Given the description of an element on the screen output the (x, y) to click on. 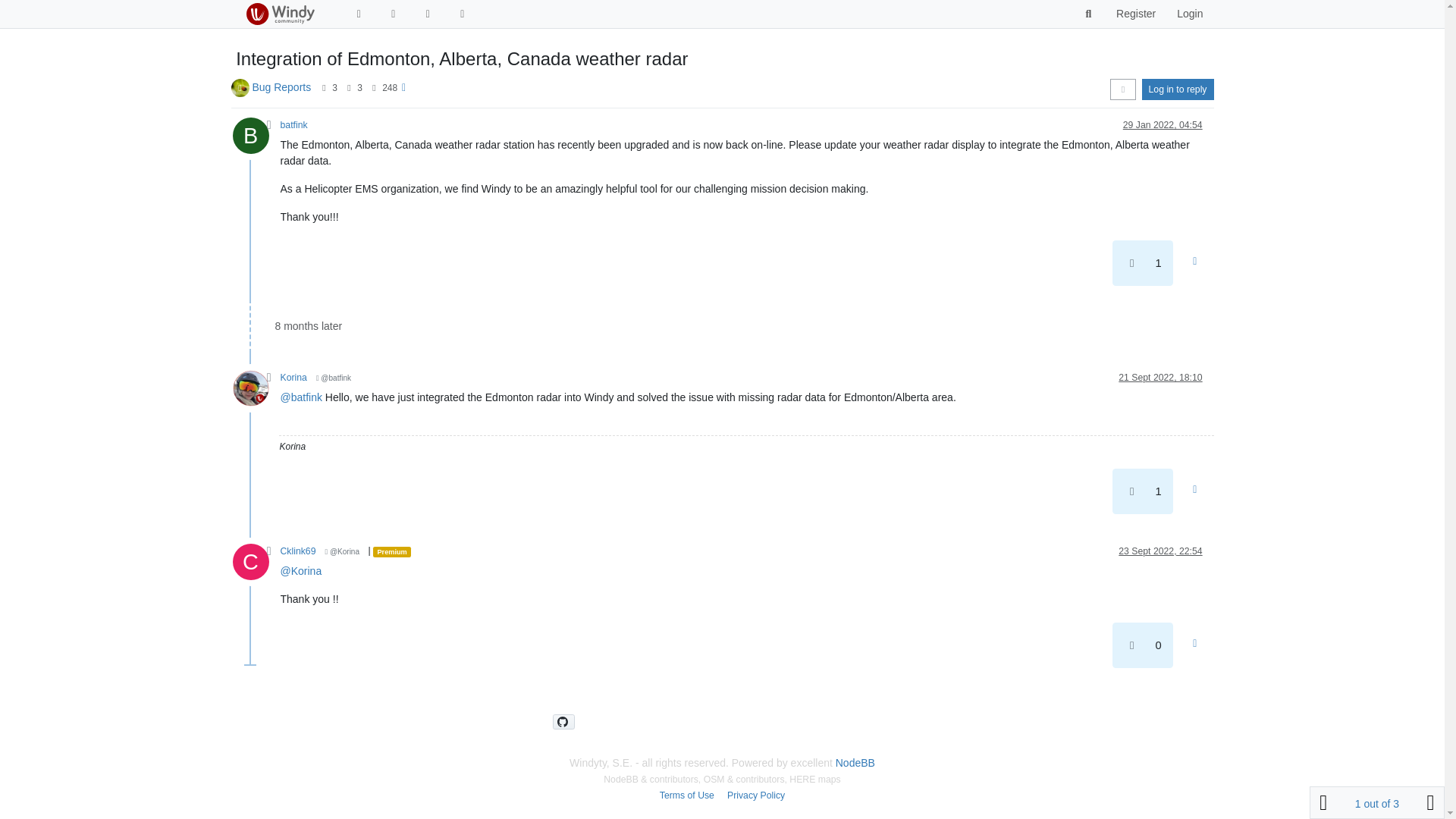
Go to windy.com (462, 13)
Windy Community (279, 13)
Register (1135, 13)
Login (1189, 13)
batfink (294, 124)
Search (1088, 14)
Log in to reply (1177, 88)
Groups (427, 13)
B (255, 139)
Unread (357, 13)
Categories (392, 13)
Bug Reports (281, 87)
Posts (349, 87)
29 Jan 2022, 04:54 (1162, 124)
Posters (324, 87)
